Given the description of an element on the screen output the (x, y) to click on. 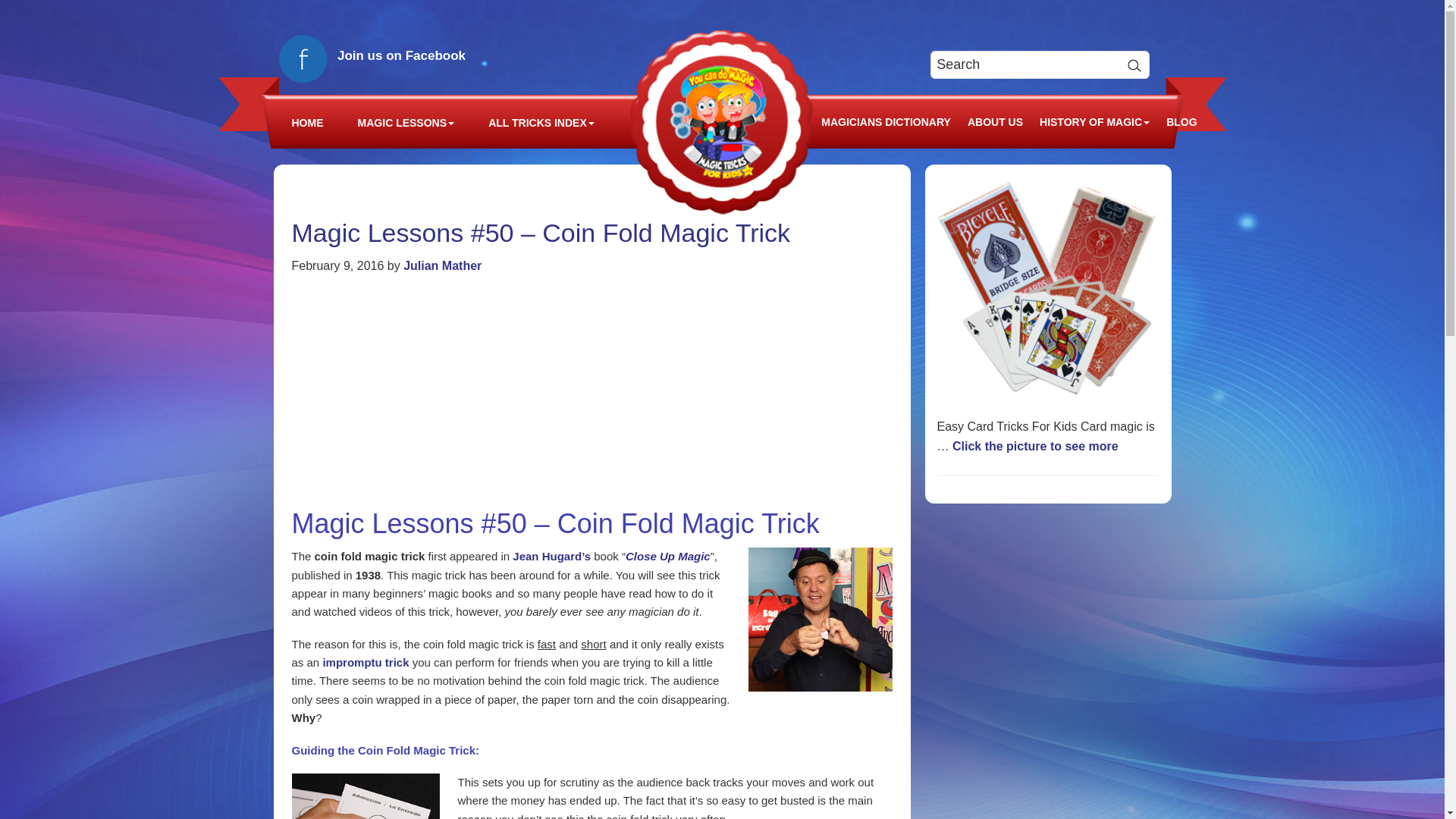
Join us on Facebook (377, 55)
Search (1134, 64)
Magic Tricks For Kids (721, 122)
Search (1134, 64)
MAGIC LESSONS (406, 122)
Search (1134, 64)
HOME (307, 122)
